Given the description of an element on the screen output the (x, y) to click on. 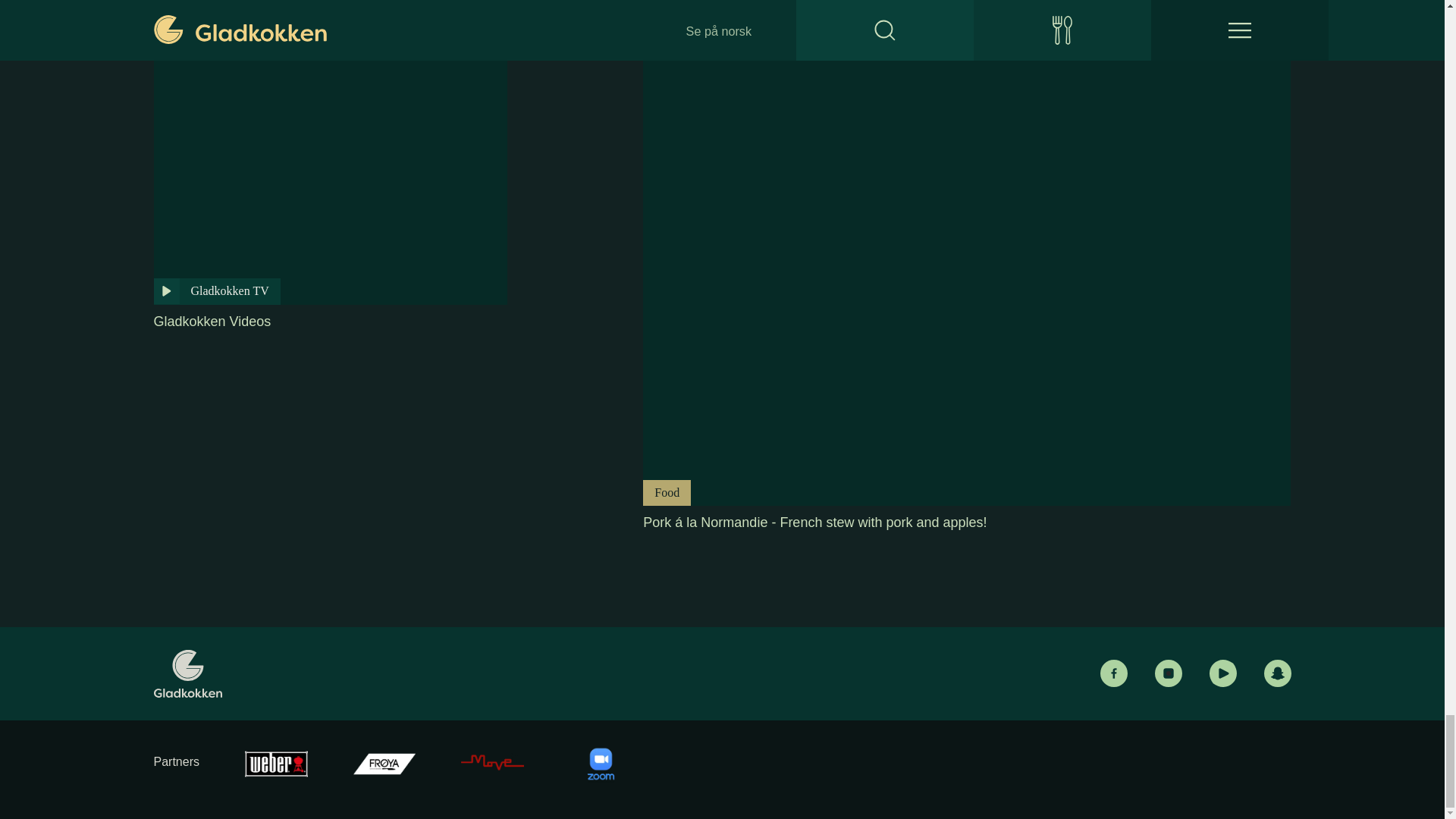
facebook (1112, 673)
snapchat (1276, 673)
youtube (1222, 673)
instagram (1167, 673)
